Given the description of an element on the screen output the (x, y) to click on. 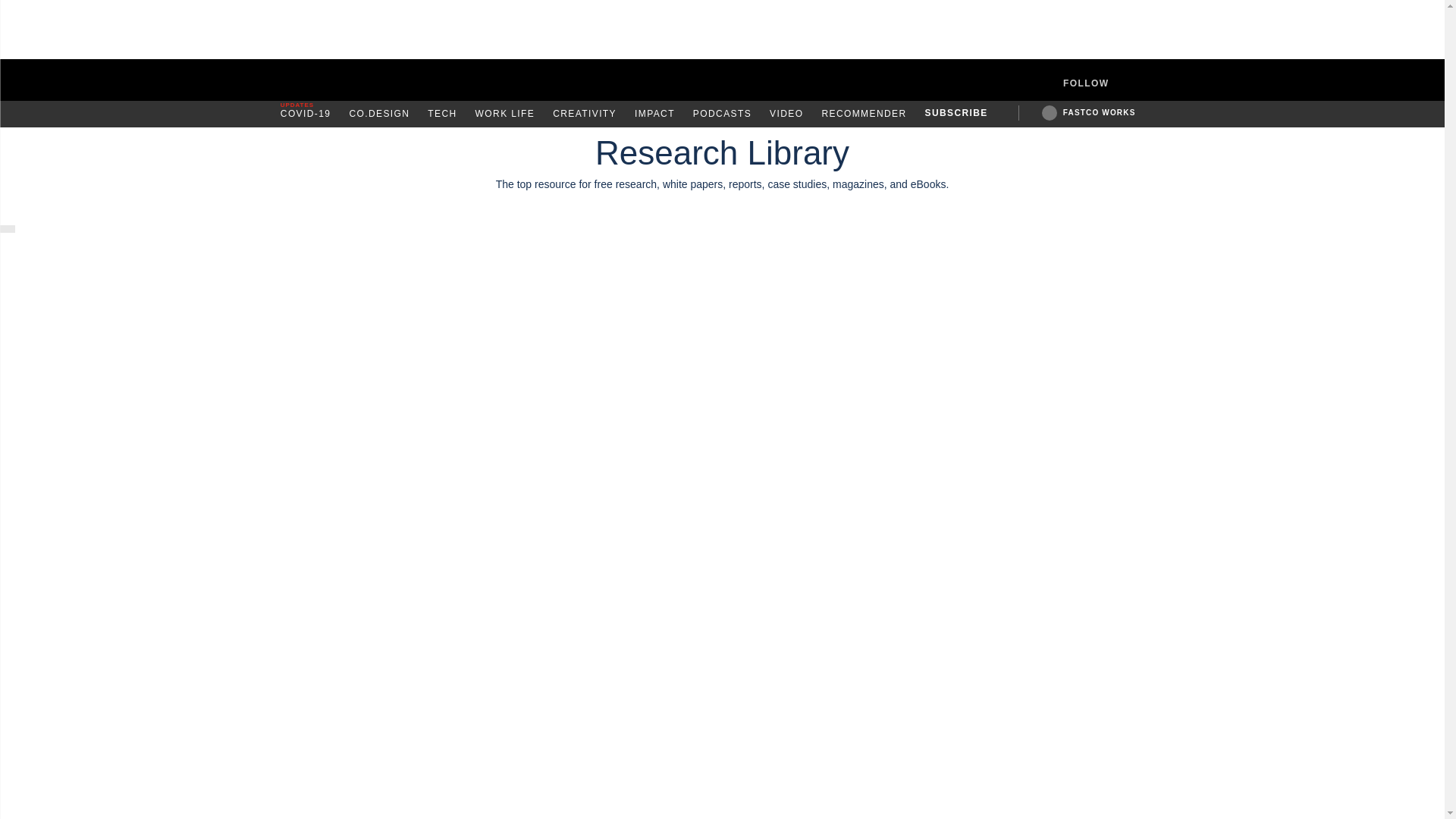
Co.Design (379, 113)
IMPACT (654, 113)
TECH (442, 113)
Video (786, 113)
VIDEO (786, 113)
Creativity (584, 113)
Impact (654, 113)
COVID-19 (306, 113)
FASTCO WORKS (1098, 112)
PODCASTS (722, 113)
CREATIVITY (584, 113)
WORK LIFE (505, 113)
Fast Company (721, 79)
RECOMMENDER (863, 113)
Recommender (863, 113)
